Given the description of an element on the screen output the (x, y) to click on. 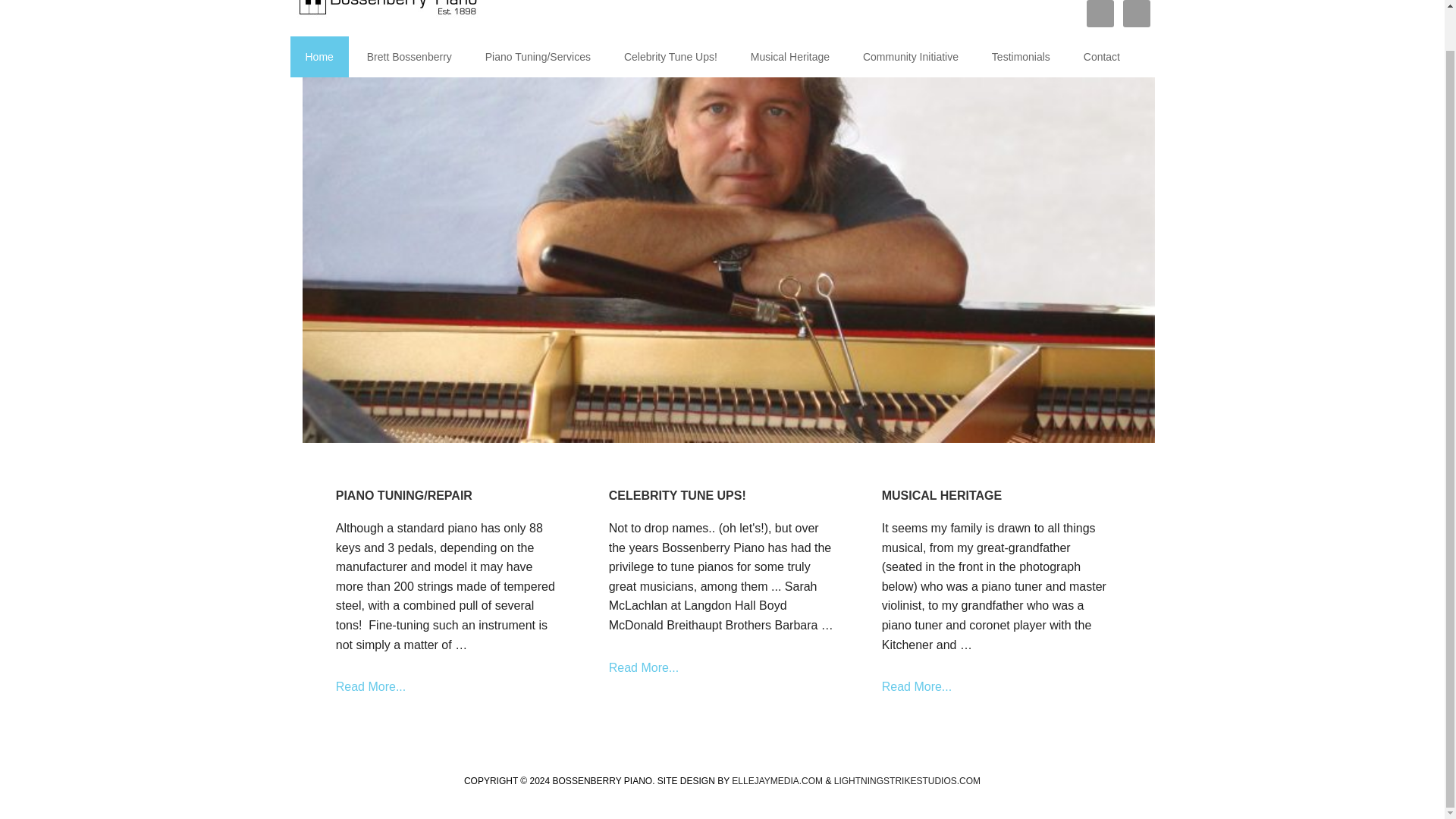
Testimonials (1020, 56)
Brett Bossenberry (409, 56)
Celebrity Tune Ups! (670, 56)
Bossenberry Piano (387, 16)
ELLEJAYMEDIA.COM (777, 780)
Community Initiative (910, 56)
Musical Heritage (721, 668)
LIGHTNINGSTRIKESTUDIOS.COM (789, 56)
